Given the description of an element on the screen output the (x, y) to click on. 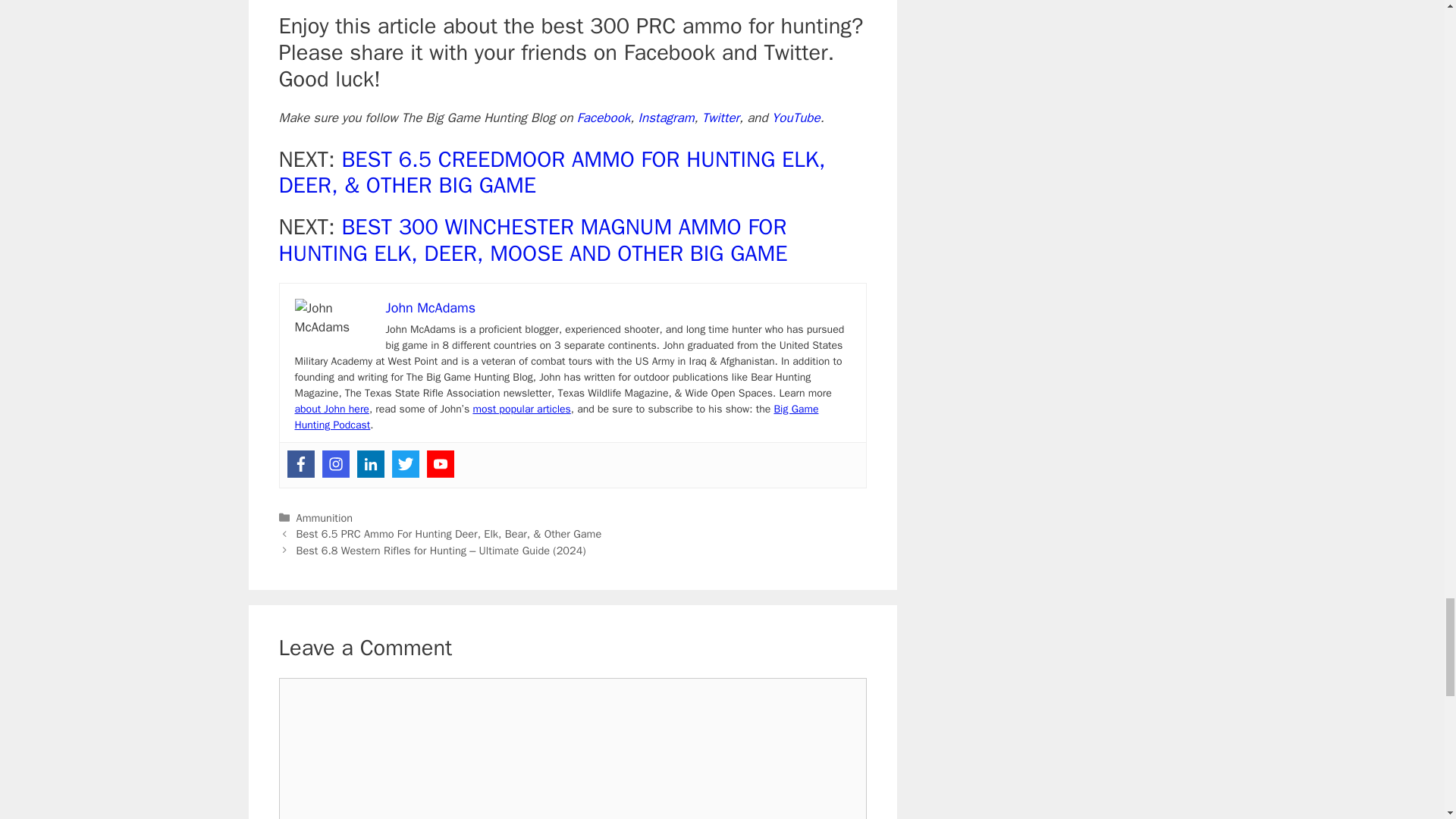
Facebook (300, 463)
Twitter (405, 463)
Linkedin (370, 463)
Youtube (439, 463)
Instagram (335, 463)
